Given the description of an element on the screen output the (x, y) to click on. 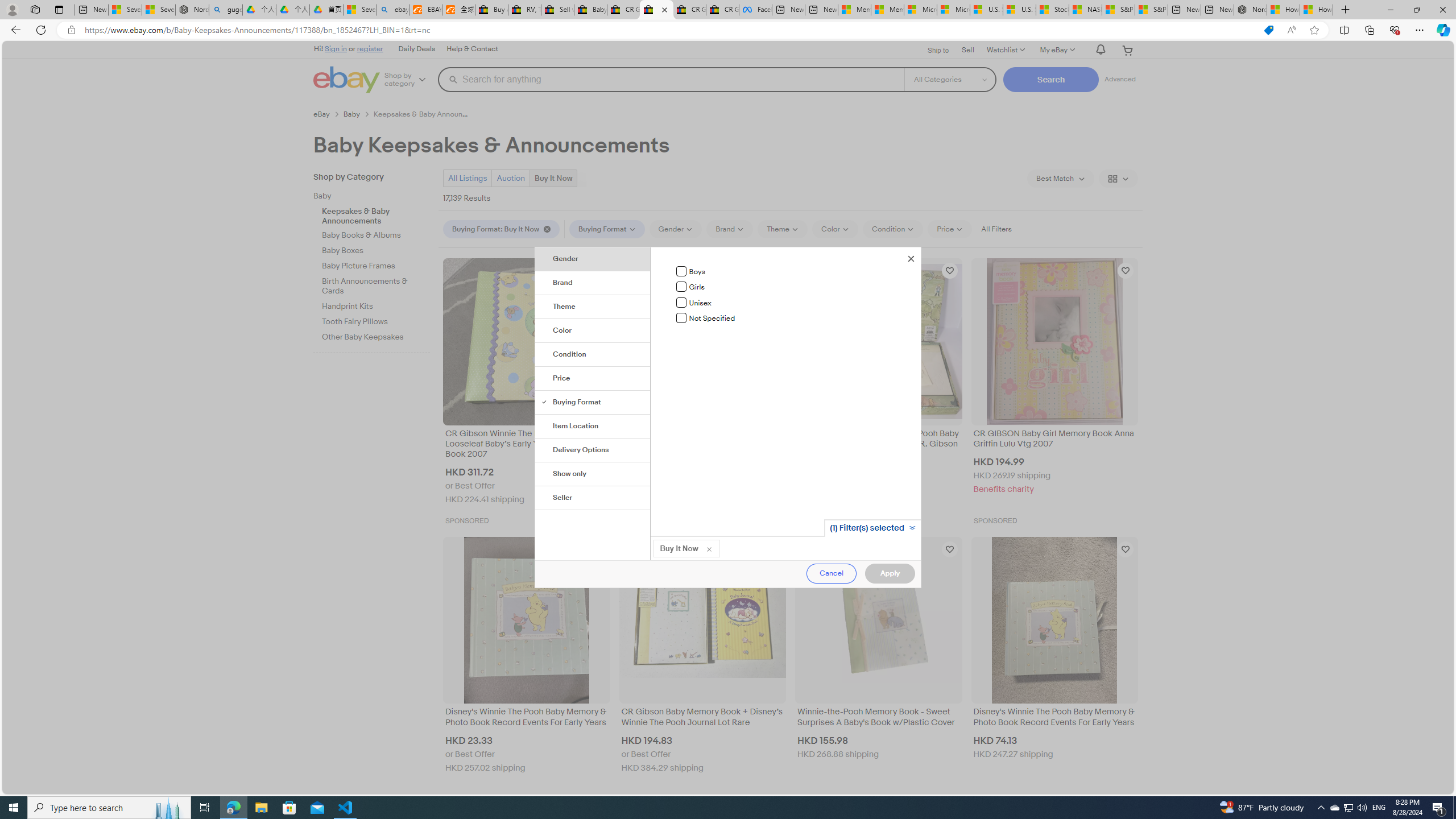
(1) Filter(s) selected (872, 528)
Girls (681, 286)
Color (592, 331)
Show only (592, 474)
Condition (592, 354)
Seller (592, 498)
Facebook (755, 9)
guge yunpan - Search (225, 9)
